Given the description of an element on the screen output the (x, y) to click on. 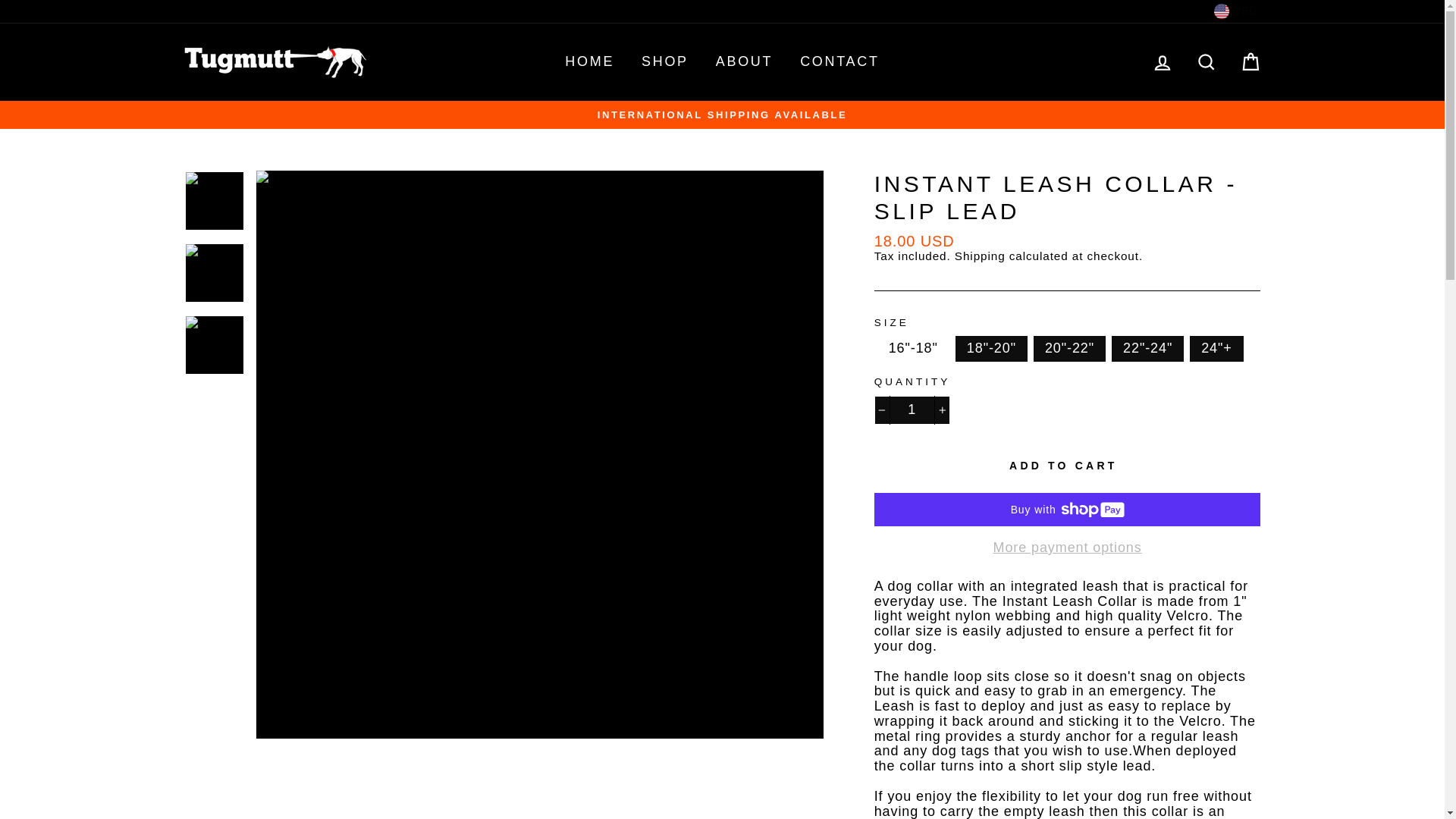
CART (1249, 61)
ABOUT (744, 62)
CONTACT (840, 62)
1 (912, 410)
HOME (589, 62)
SHOP (665, 62)
LOG IN (1162, 61)
SEARCH (1205, 61)
USD (1235, 11)
